Given the description of an element on the screen output the (x, y) to click on. 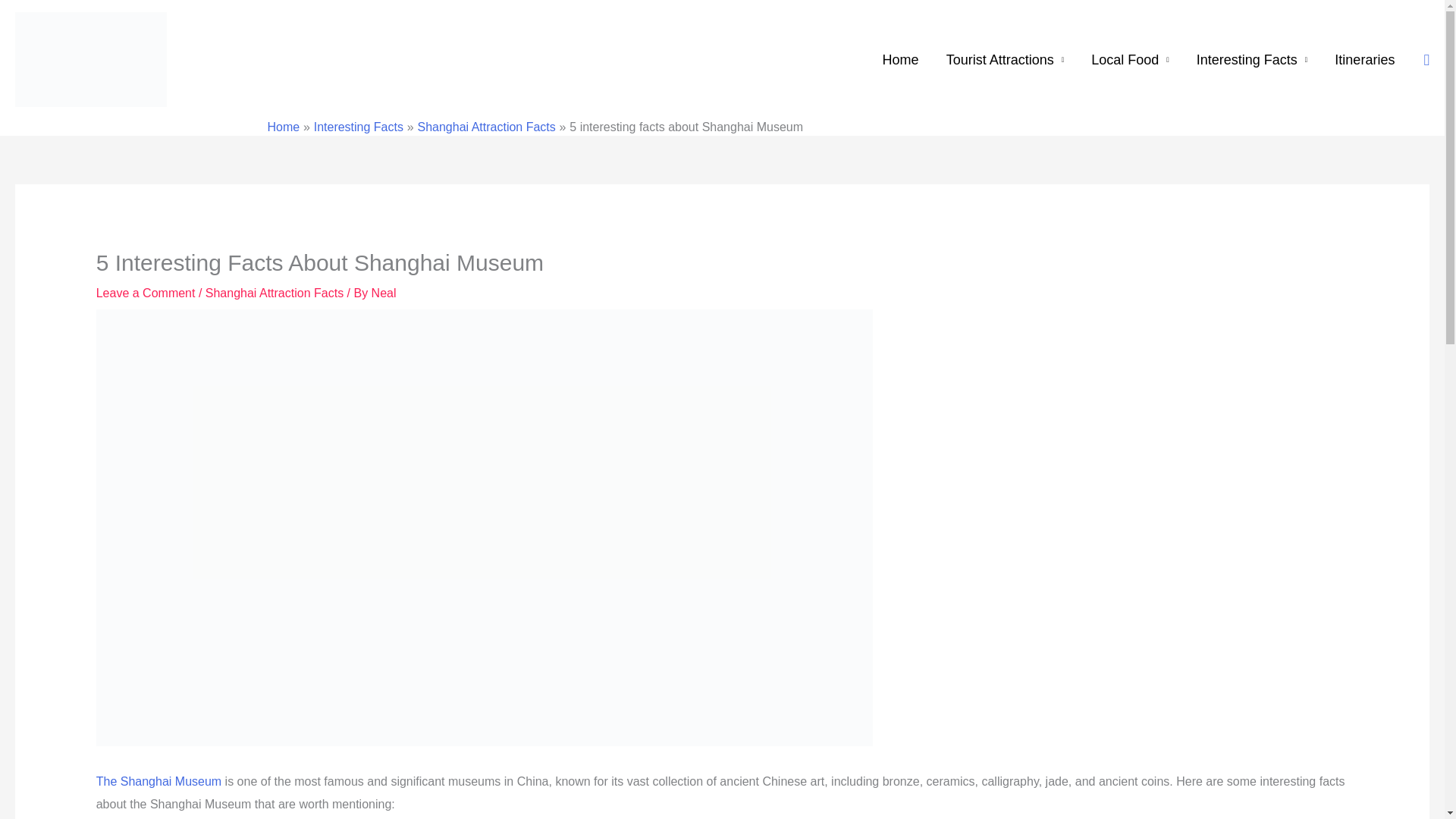
Home (901, 59)
View all posts by Neal (383, 292)
Tourist Attractions (1005, 59)
